Given the description of an element on the screen output the (x, y) to click on. 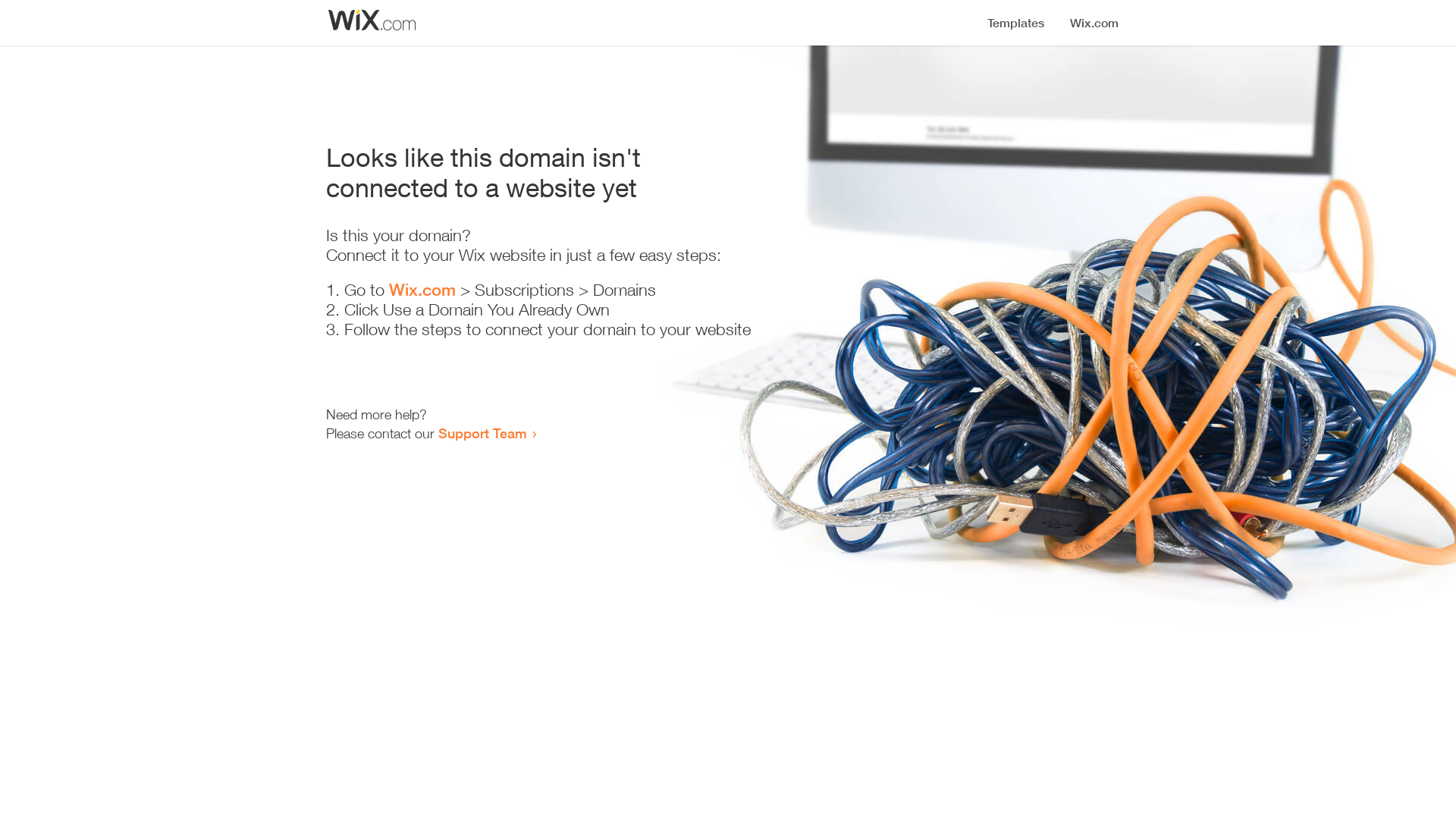
Wix.com Element type: text (422, 289)
Support Team Element type: text (482, 432)
